Given the description of an element on the screen output the (x, y) to click on. 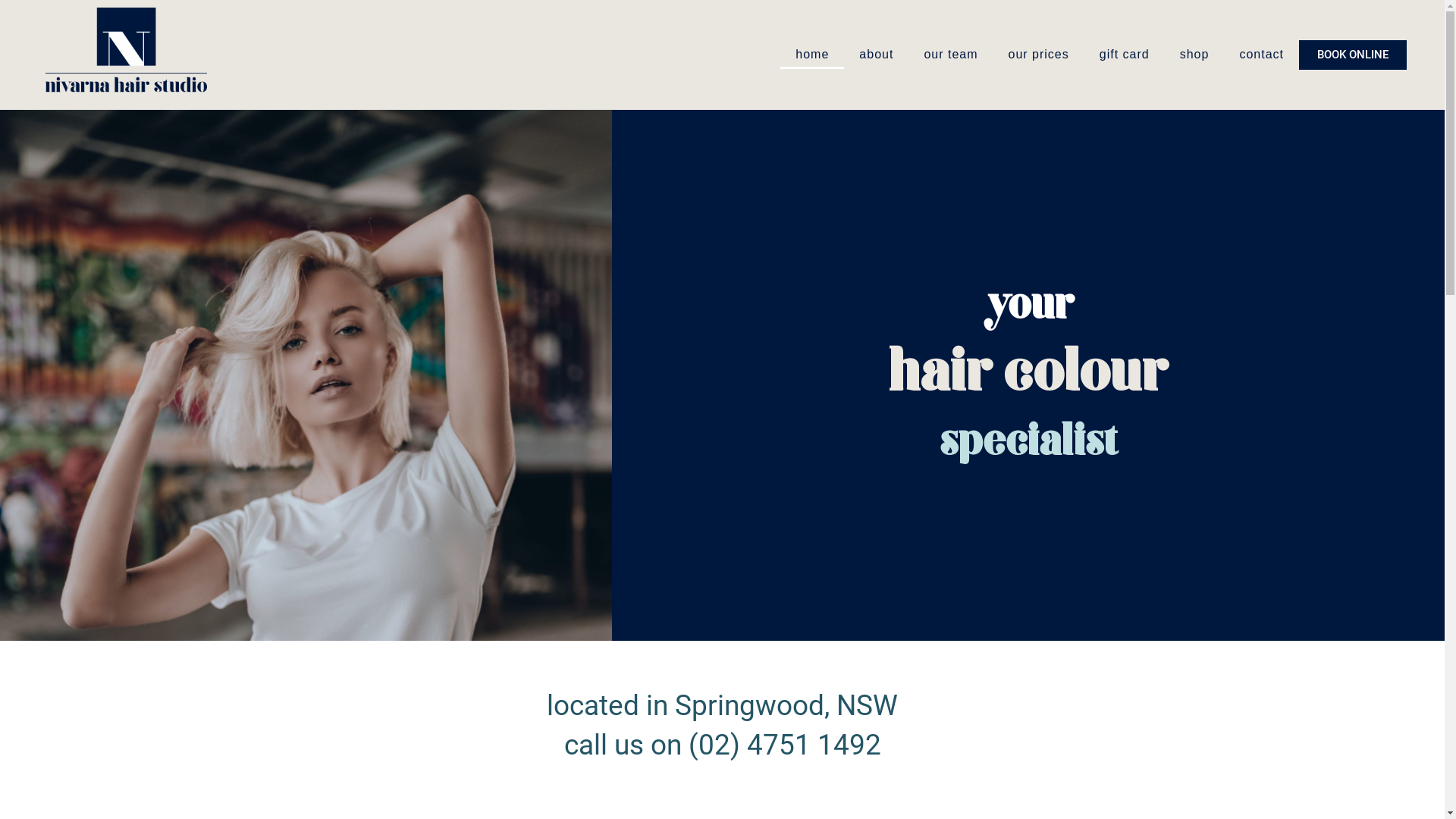
gift card Element type: text (1124, 54)
our prices Element type: text (1038, 54)
about Element type: text (876, 54)
contact Element type: text (1261, 54)
BOOK ONLINE Element type: text (1352, 54)
home Element type: text (812, 54)
(02) 4751 1492 Element type: text (784, 744)
our team Element type: text (950, 54)
shop Element type: text (1194, 54)
